Given the description of an element on the screen output the (x, y) to click on. 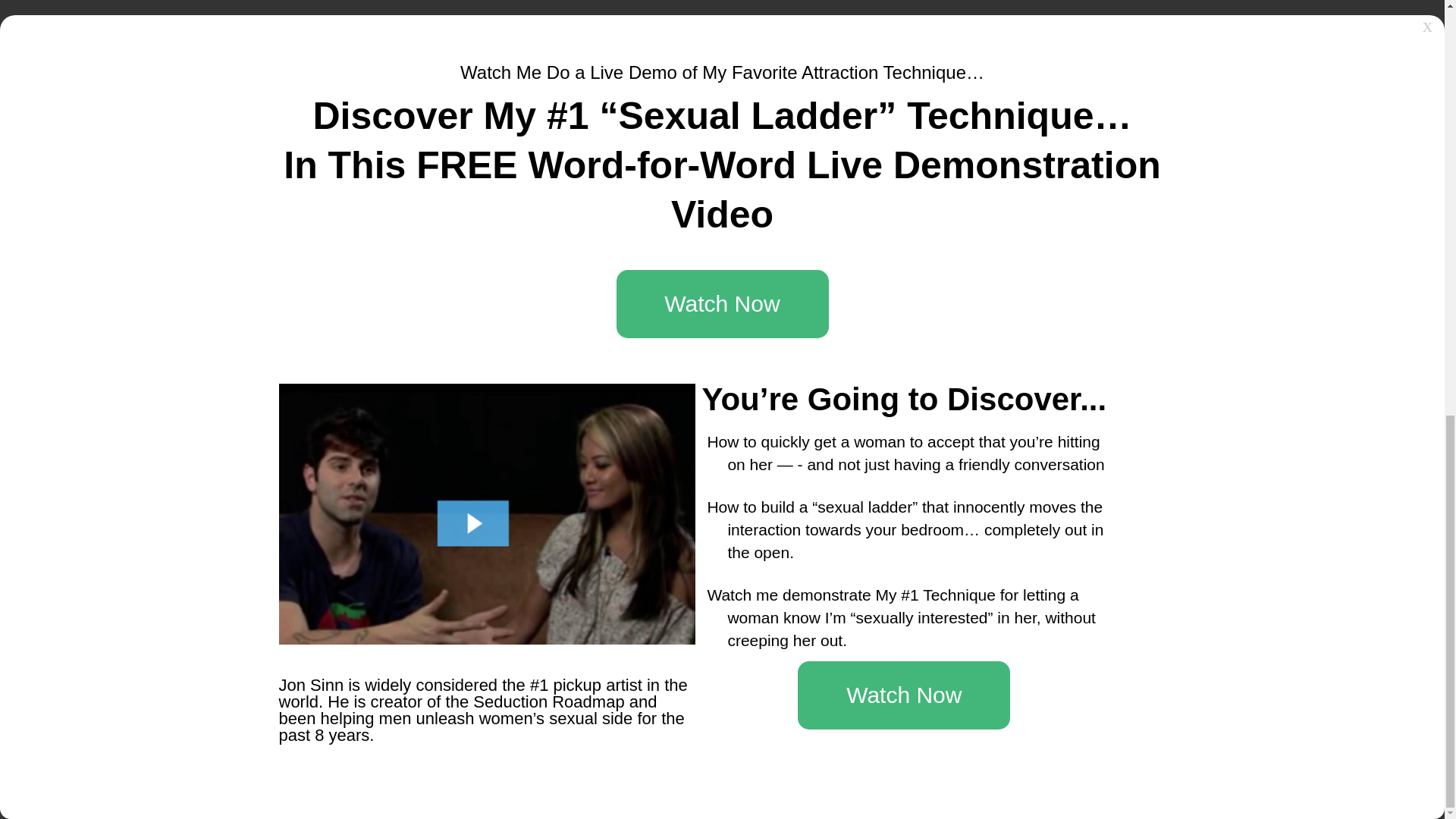
Patrick James (1060, 633)
Rob Judge (912, 567)
EMAIL PRIVACY (650, 194)
Homepage (324, 412)
R.S. Brasher (917, 676)
Natasha Abrahams (1073, 611)
Christopher Reid (1067, 589)
Jamie Atkinson (923, 611)
Jon Sinn (907, 589)
Videos (374, 412)
check them out (503, 340)
Joe Elvin (908, 633)
Nick Rogue (1054, 567)
Ben Kissam (915, 655)
David Maitland (1062, 655)
